Given the description of an element on the screen output the (x, y) to click on. 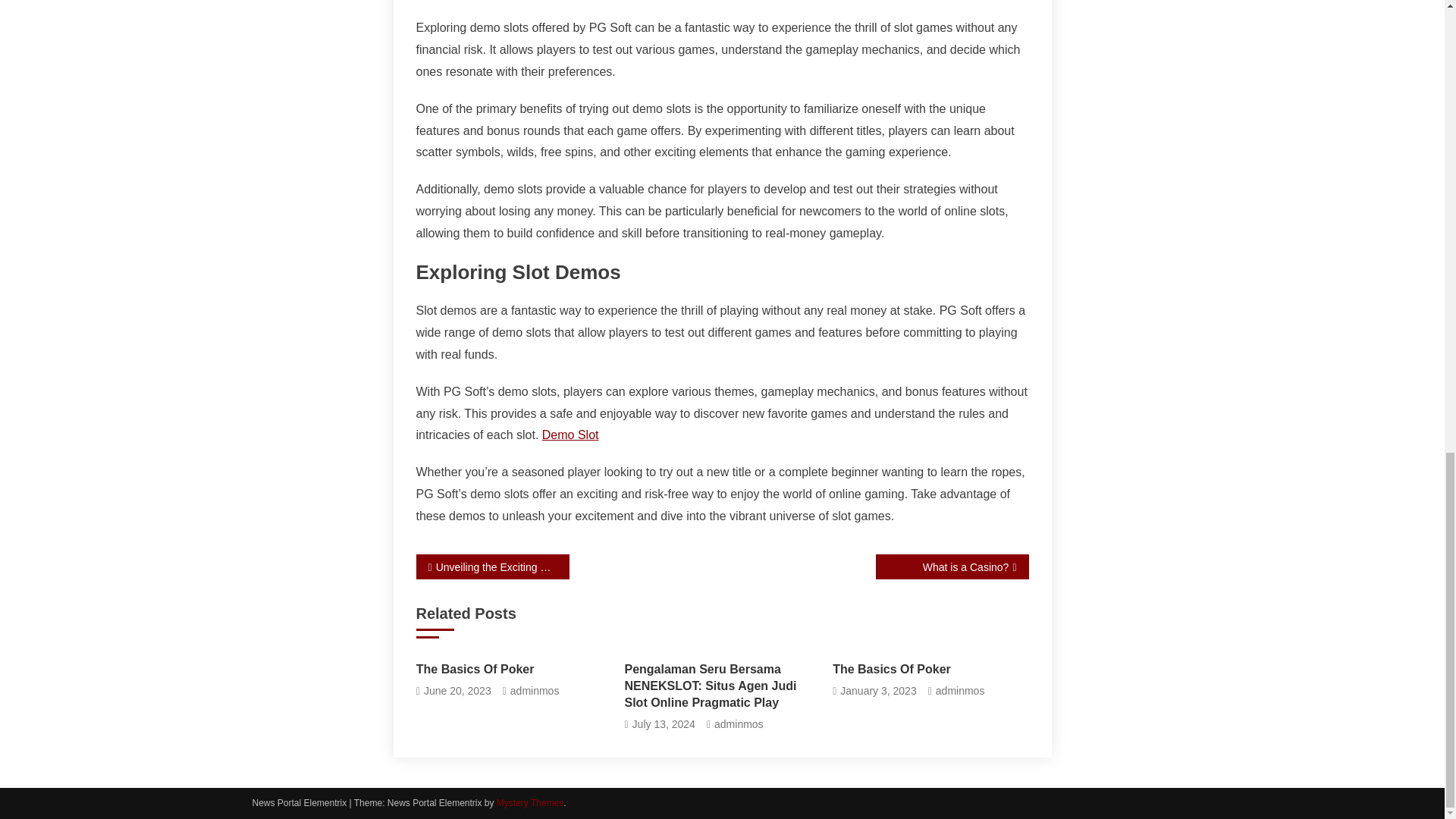
Demo Slot (569, 434)
Mystery Themes (529, 802)
The Basics Of Poker (513, 669)
adminmos (960, 691)
June 20, 2023 (457, 691)
January 3, 2023 (877, 691)
What is a Casino? (951, 566)
July 13, 2024 (663, 723)
adminmos (535, 691)
